Given the description of an element on the screen output the (x, y) to click on. 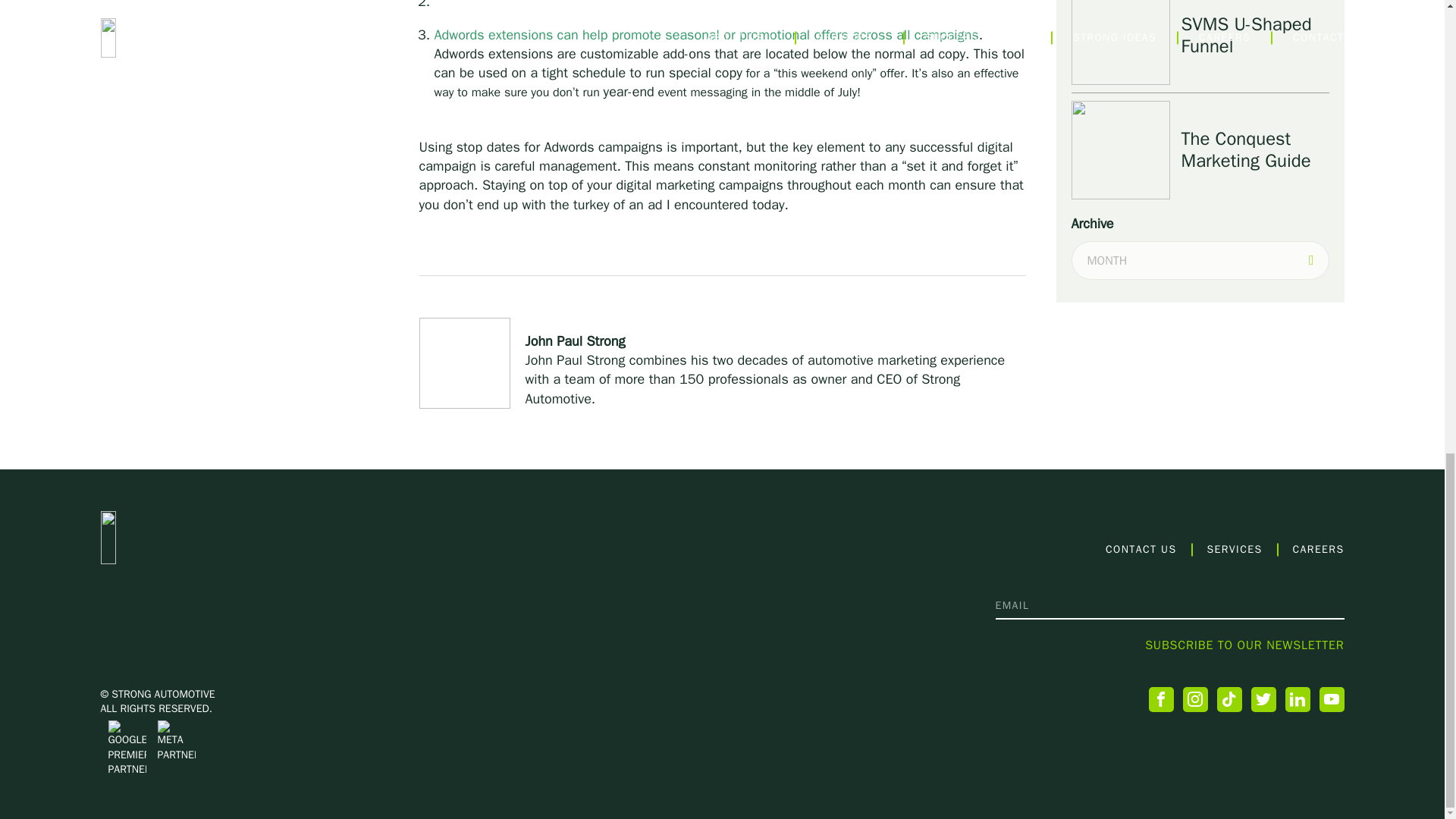
Instagram (1195, 699)
TikTok (1228, 699)
LinkedIn (1296, 699)
Google Premier Partner (126, 748)
Facebook (1160, 699)
Twitter (1263, 699)
Meta Partner (176, 741)
Strong Automotive (204, 537)
Youtube (1331, 699)
